Given the description of an element on the screen output the (x, y) to click on. 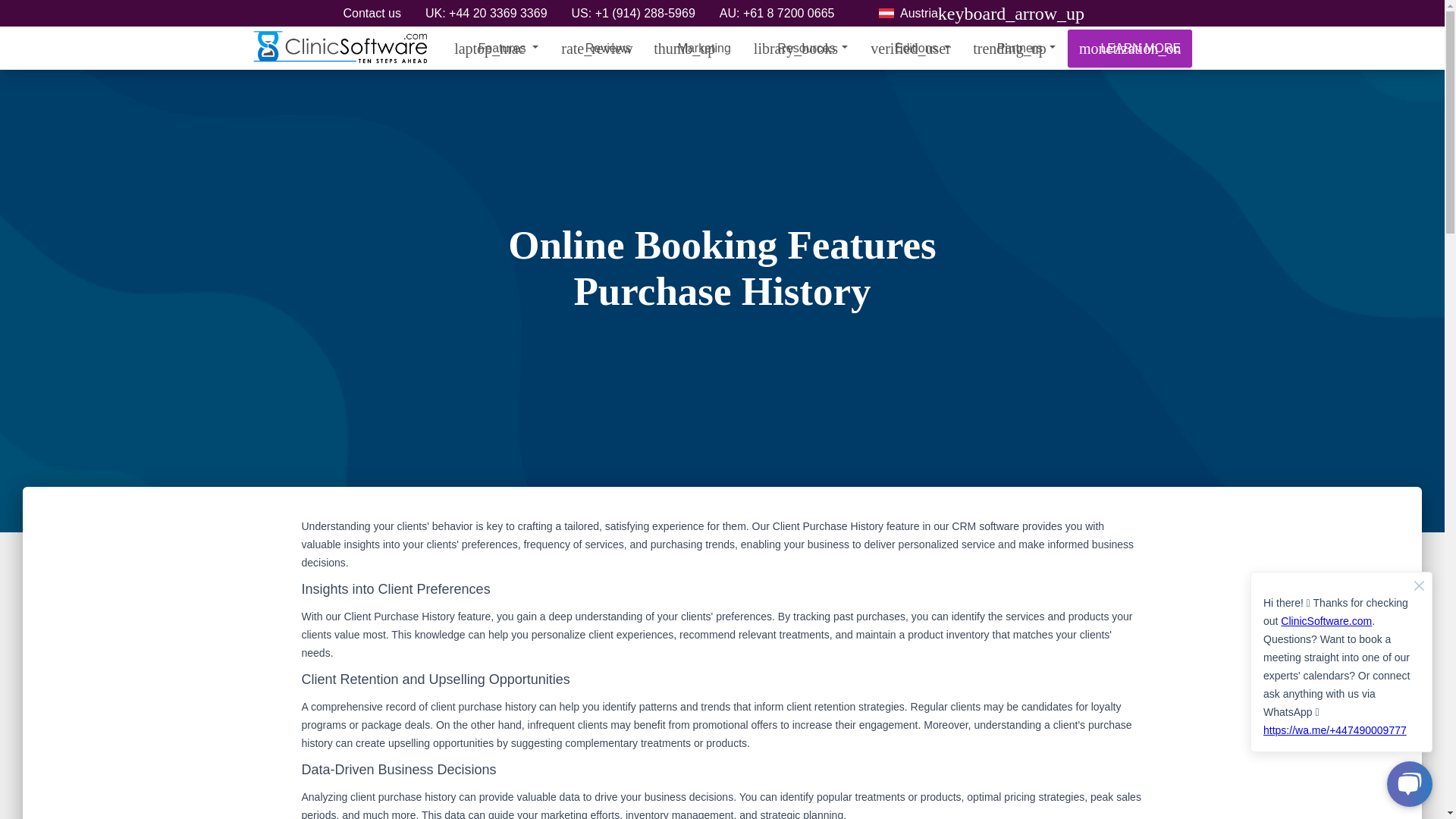
Contact us (371, 14)
